Given the description of an element on the screen output the (x, y) to click on. 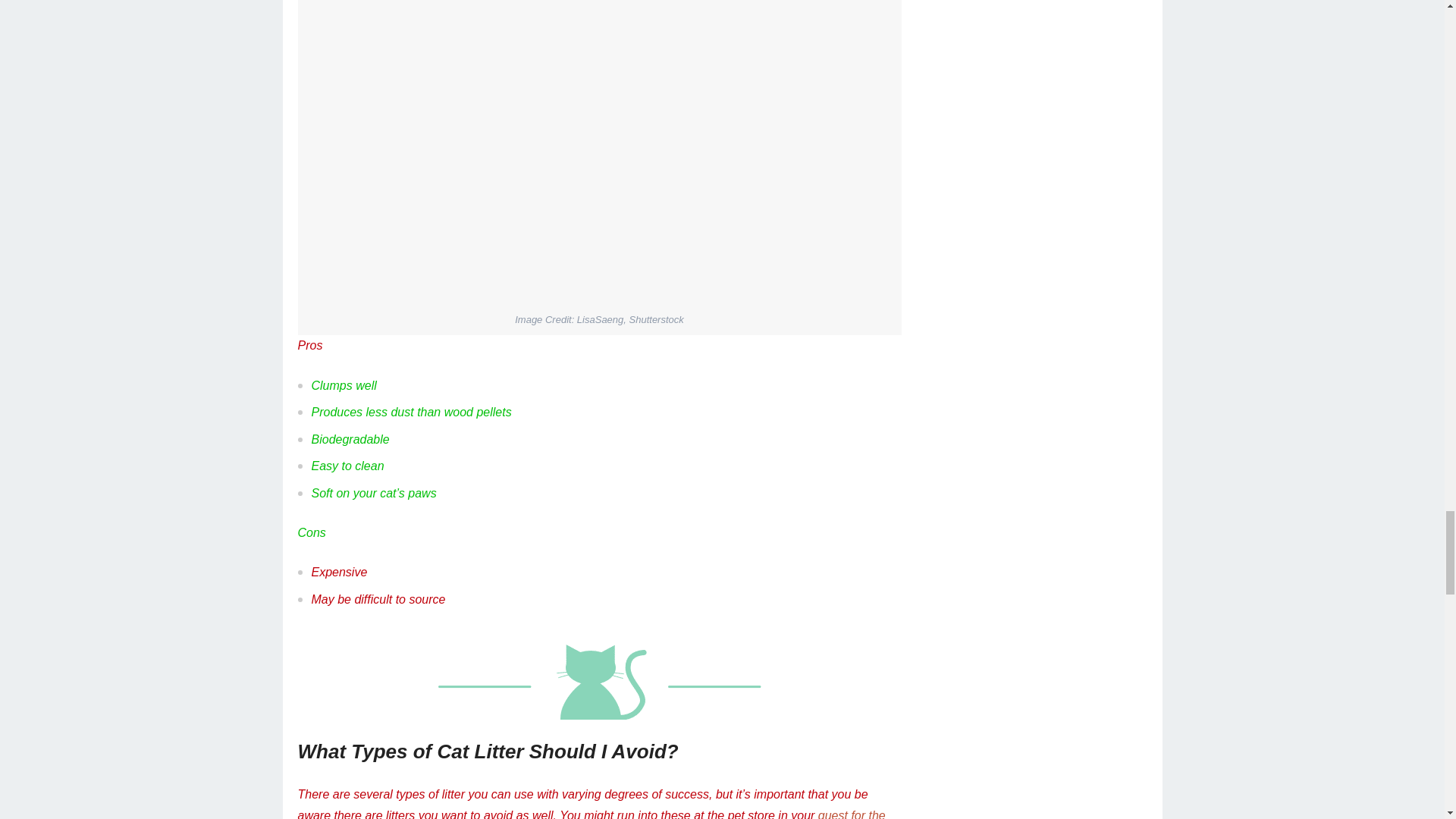
quest for the perfect cat litter (591, 814)
